Given the description of an element on the screen output the (x, y) to click on. 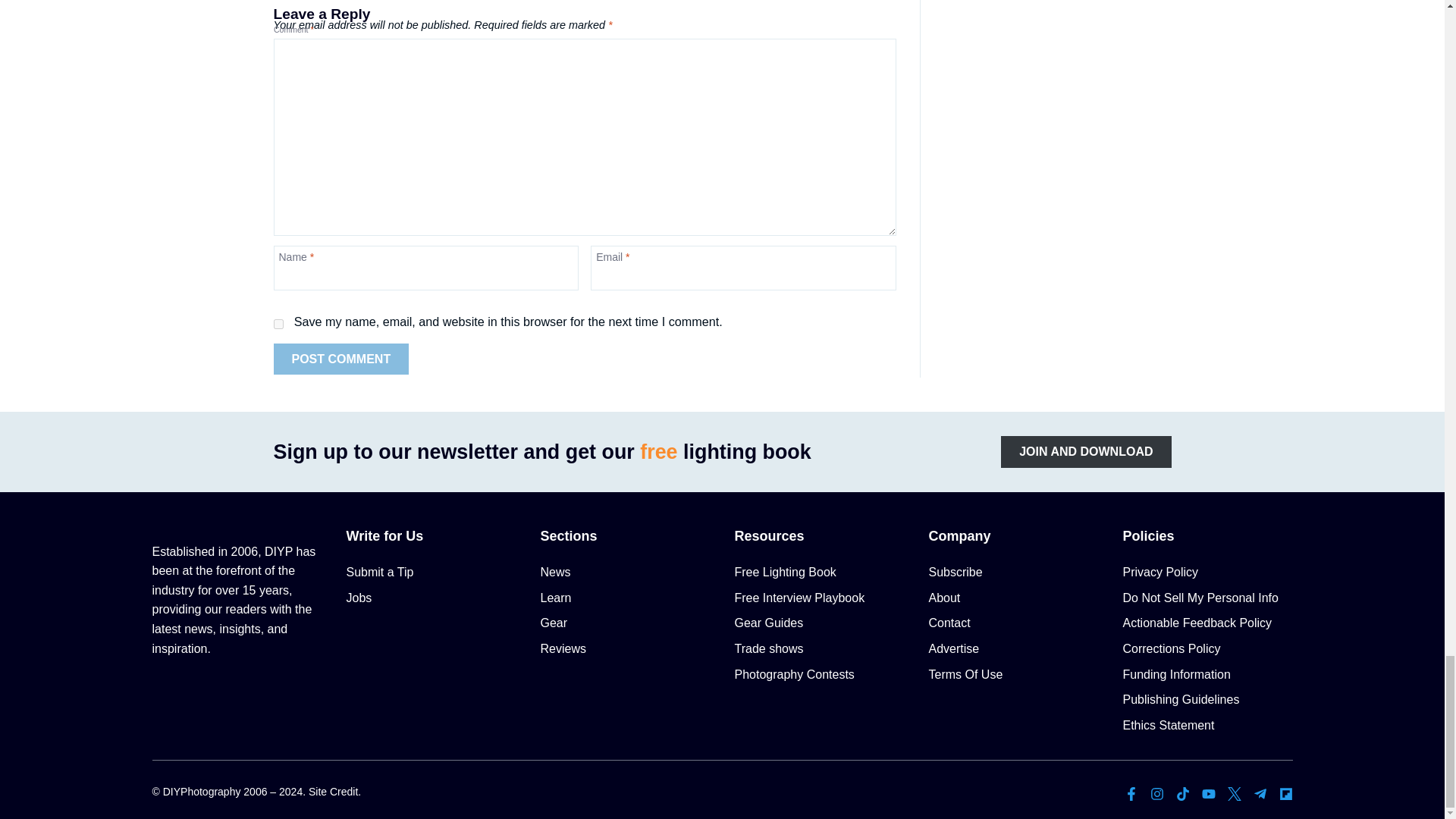
Post Comment (341, 359)
yes (277, 324)
